Given the description of an element on the screen output the (x, y) to click on. 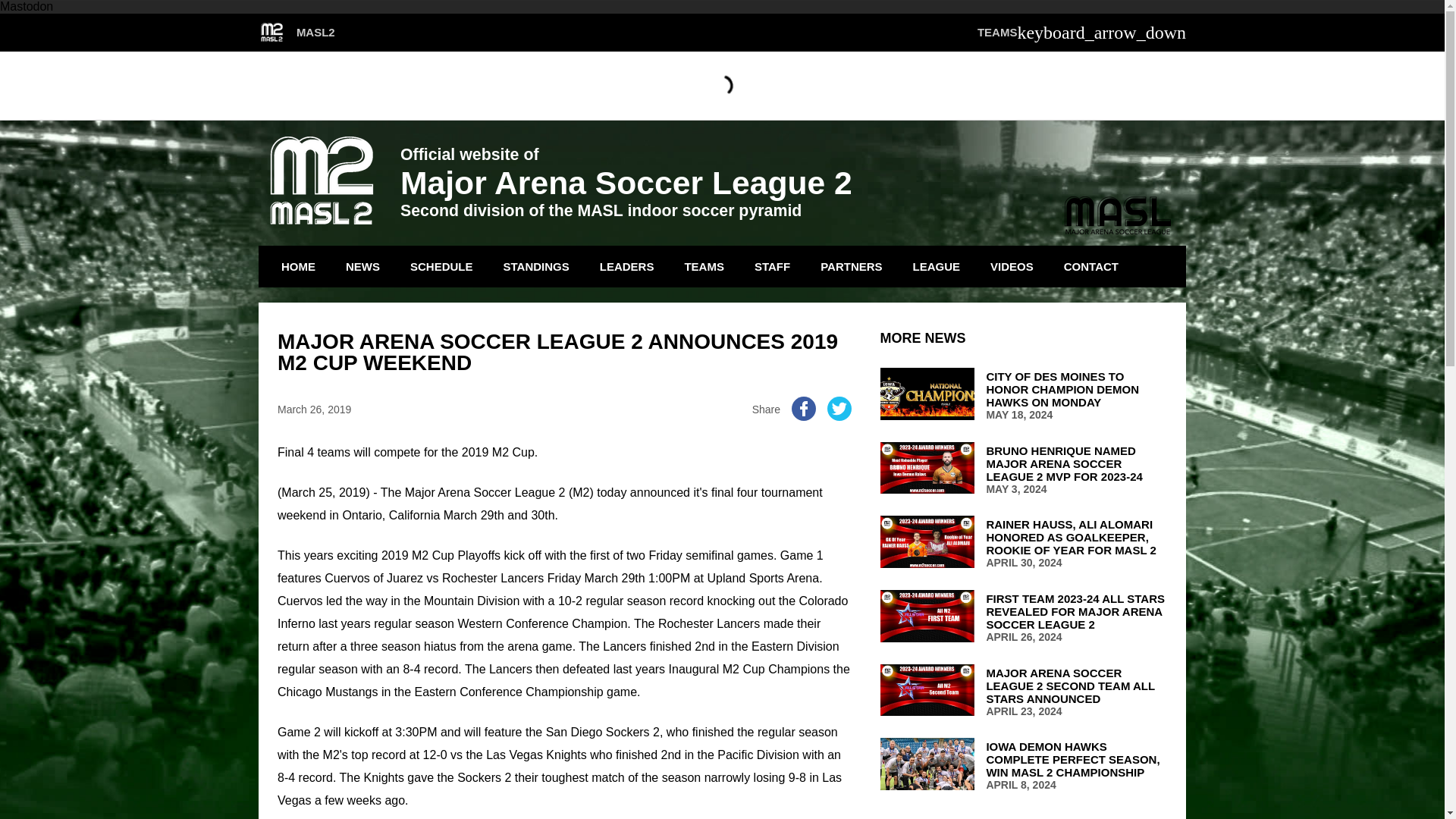
LEADERS (626, 266)
SCHEDULE (441, 266)
VIDEOS (1011, 266)
PARTNERS (851, 266)
TEAMS (703, 266)
Mastodon (26, 6)
HOME (297, 266)
STANDINGS (536, 266)
STAFF (772, 266)
MASL2 (296, 32)
